Given the description of an element on the screen output the (x, y) to click on. 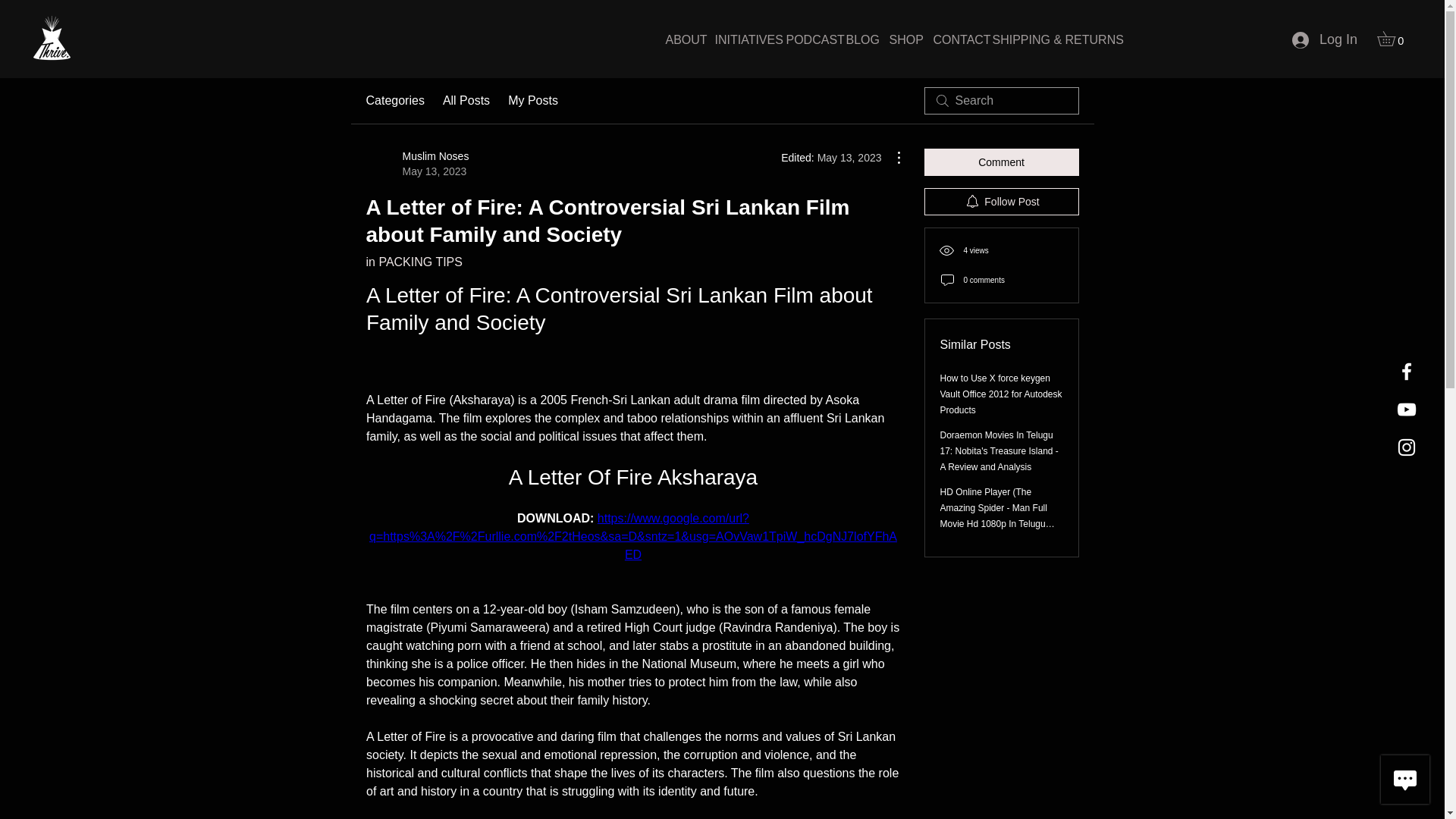
Categories (394, 100)
Follow Post (1000, 201)
0 (1393, 38)
My Posts (532, 100)
Comment (1000, 162)
INITIATIVES (738, 39)
PODCAST (804, 39)
CONTACT (951, 39)
0 (1393, 38)
Log In (1324, 39)
All Posts (465, 100)
in PACKING TIPS (416, 163)
